Given the description of an element on the screen output the (x, y) to click on. 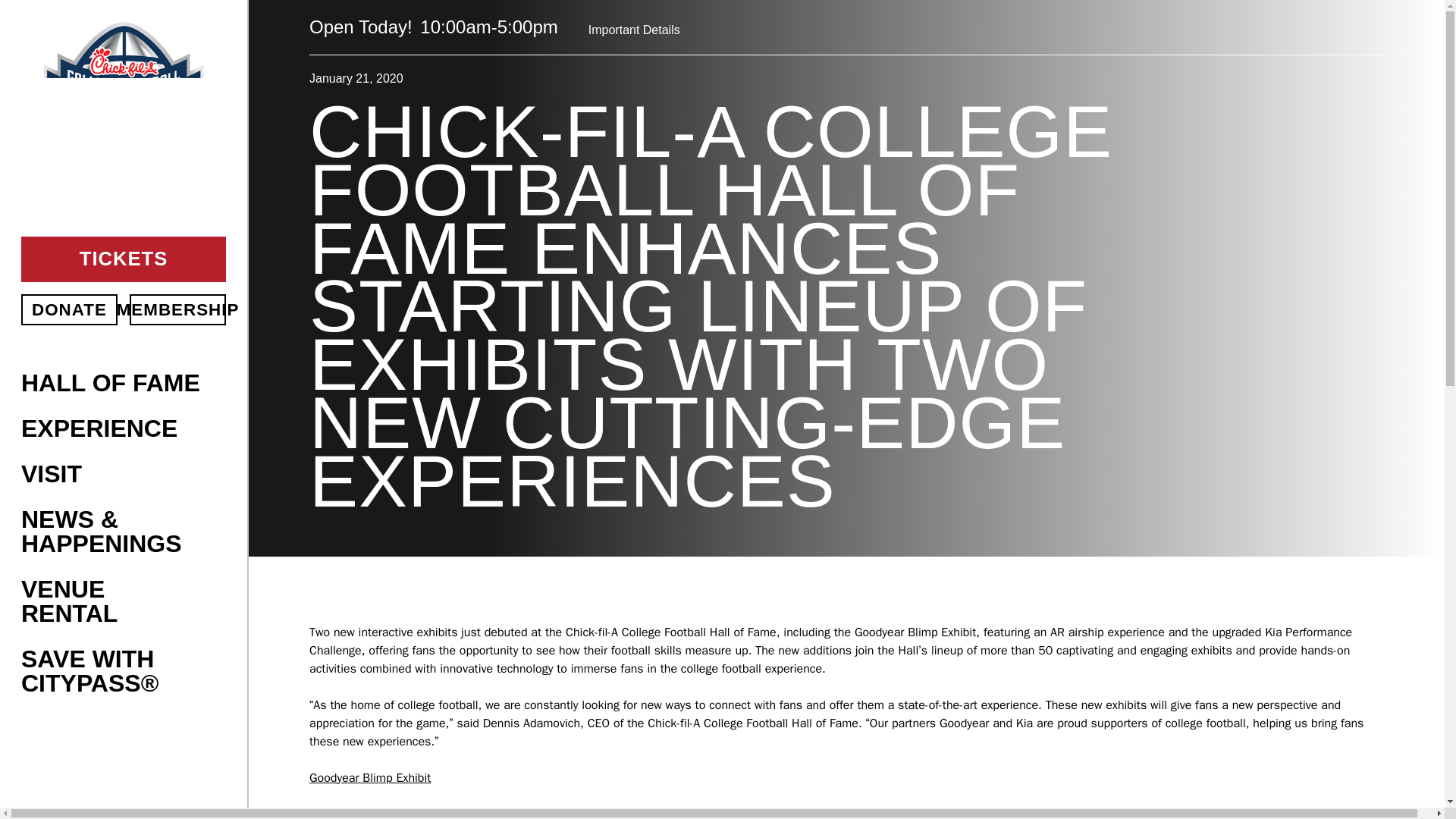
Open Today! 10:00am-5:00pm (432, 27)
DONATE (69, 309)
TICKETS (123, 258)
VENUE RENTAL (112, 601)
MEMBERSHIP (177, 309)
